Given the description of an element on the screen output the (x, y) to click on. 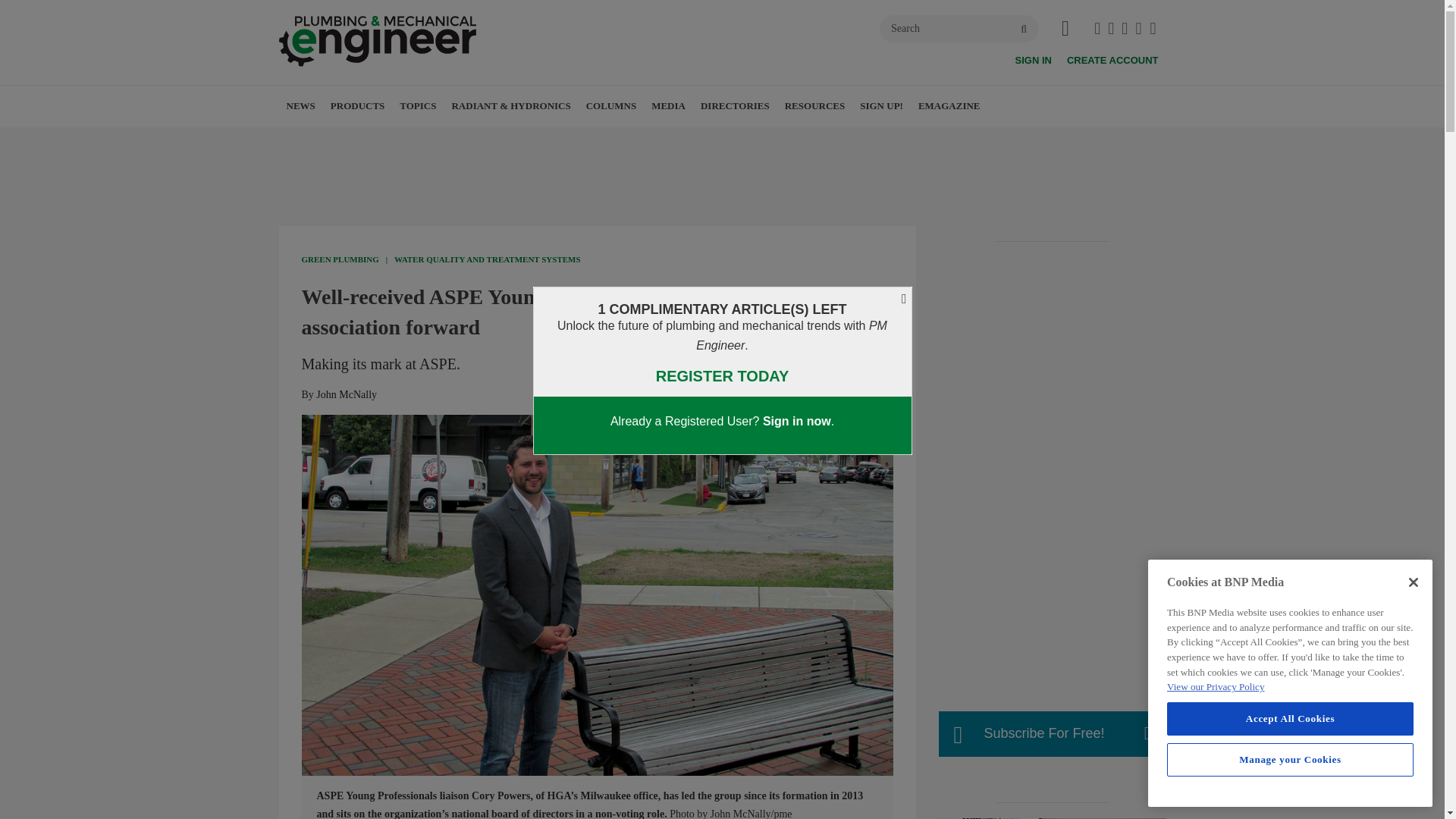
Search (959, 28)
Search (959, 28)
